Given the description of an element on the screen output the (x, y) to click on. 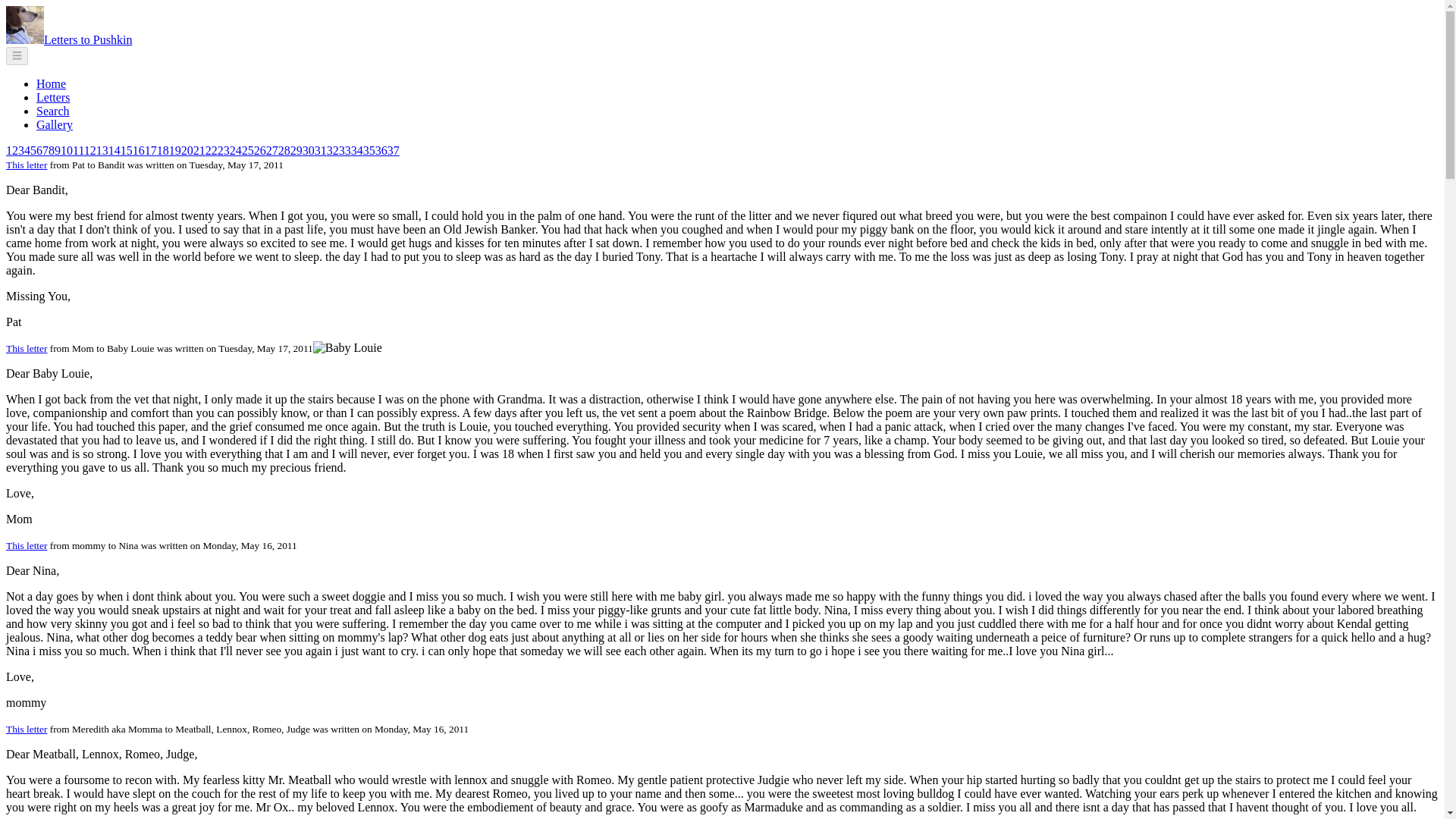
31 (320, 150)
28 (283, 150)
17 (150, 150)
22 (210, 150)
15 (126, 150)
26 (259, 150)
20 (186, 150)
14 (113, 150)
10 (66, 150)
23 (223, 150)
